Given the description of an element on the screen output the (x, y) to click on. 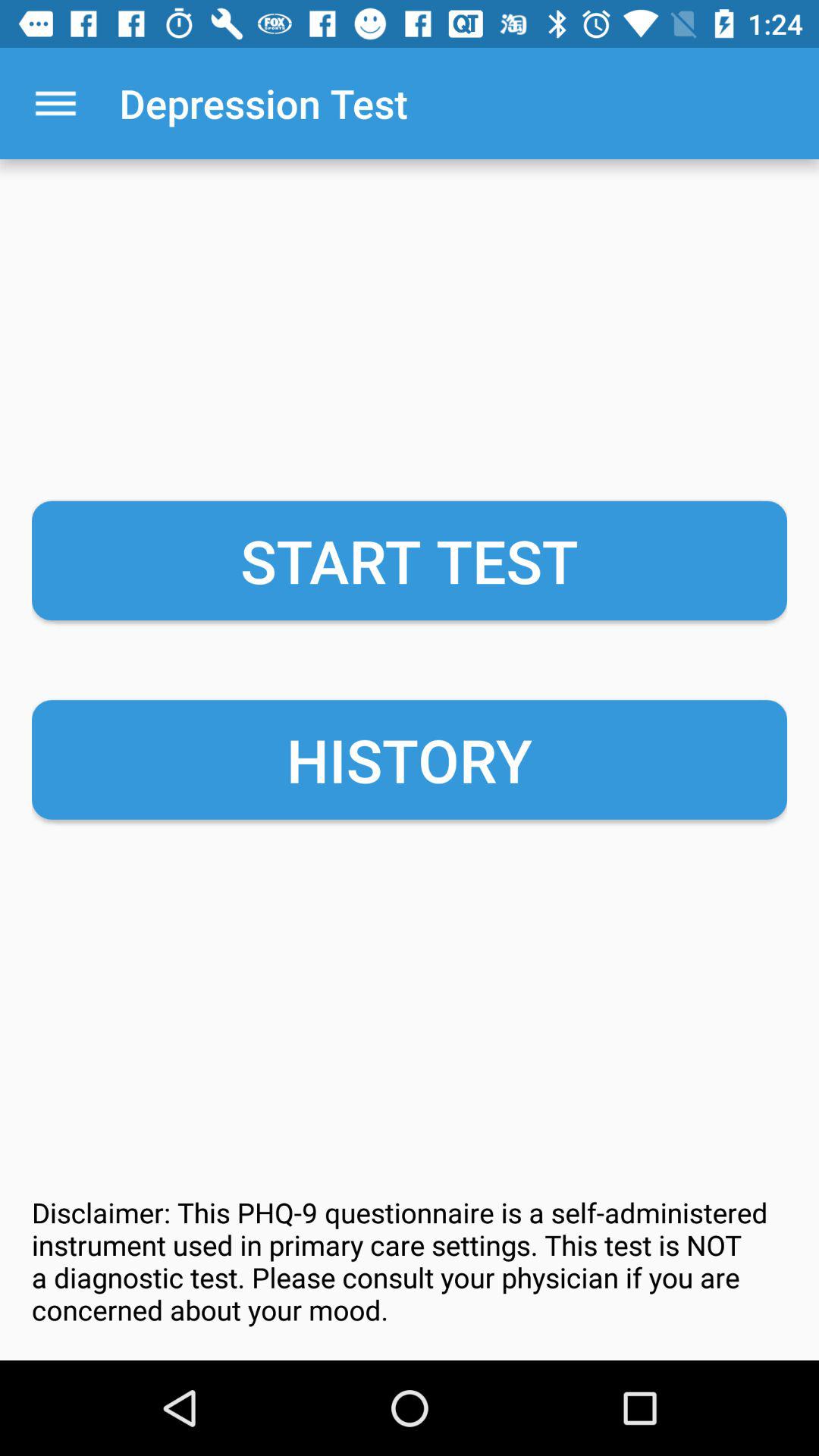
turn on the icon above disclaimer this phq (409, 759)
